Given the description of an element on the screen output the (x, y) to click on. 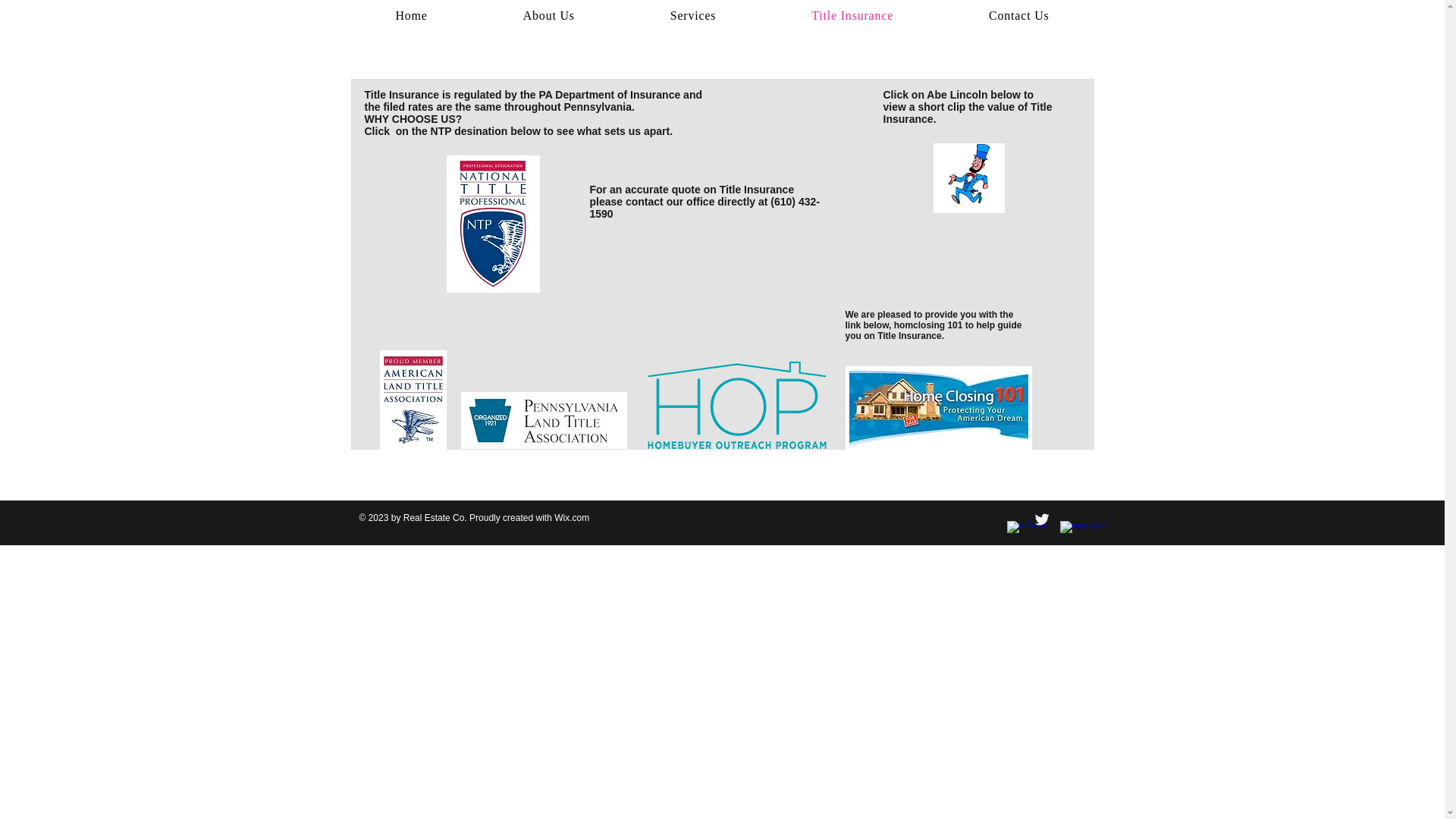
Wix.com (571, 517)
Contact Us (721, 15)
Services (1018, 15)
About Us (693, 15)
Home (549, 15)
Title Insurance (410, 15)
